Given the description of an element on the screen output the (x, y) to click on. 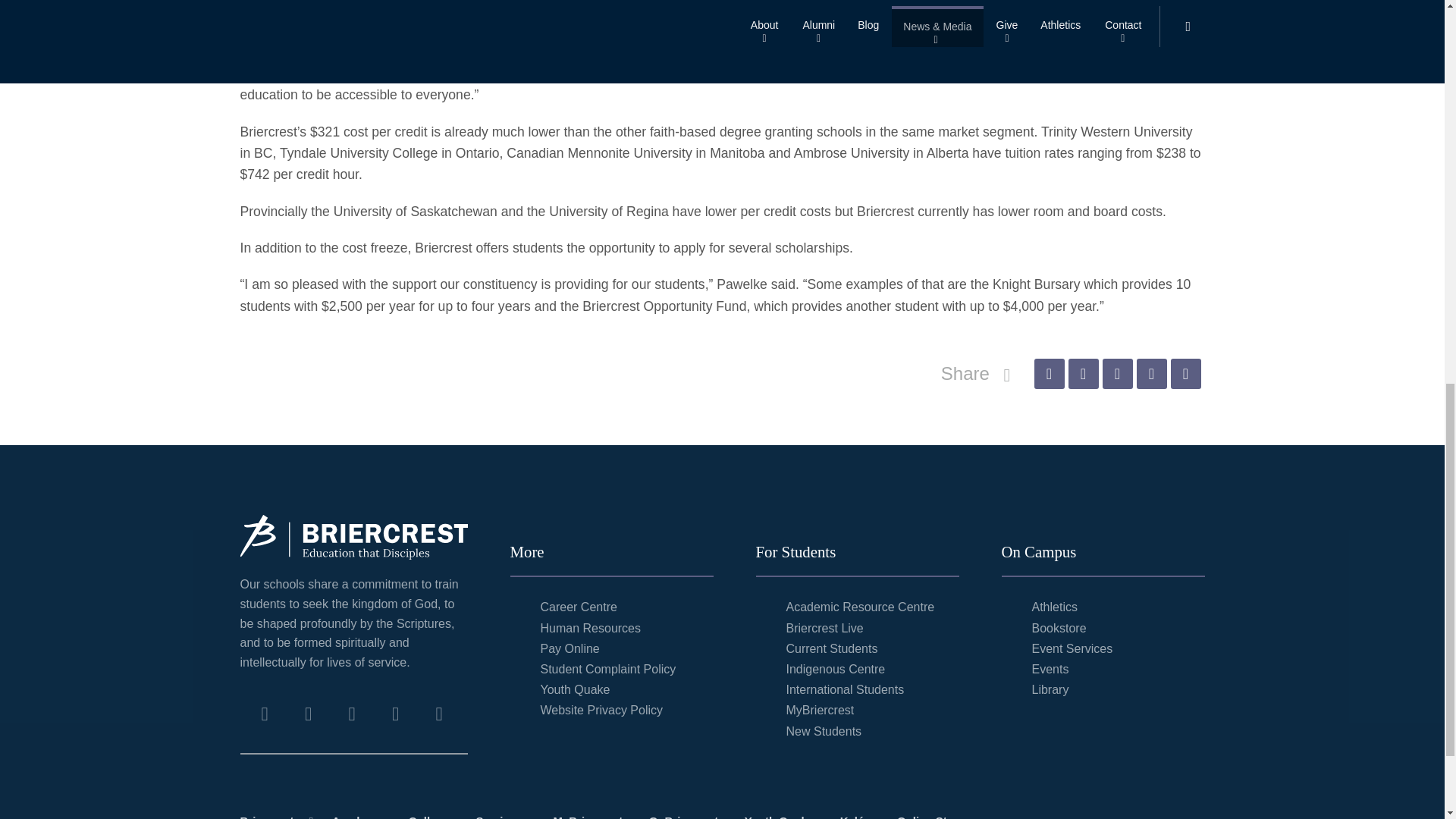
share this to Pinterest (1117, 373)
share this to my Twitter account (1082, 373)
share this to LinkedIn (1150, 373)
share this to my Facebook page (1048, 373)
